Given the description of an element on the screen output the (x, y) to click on. 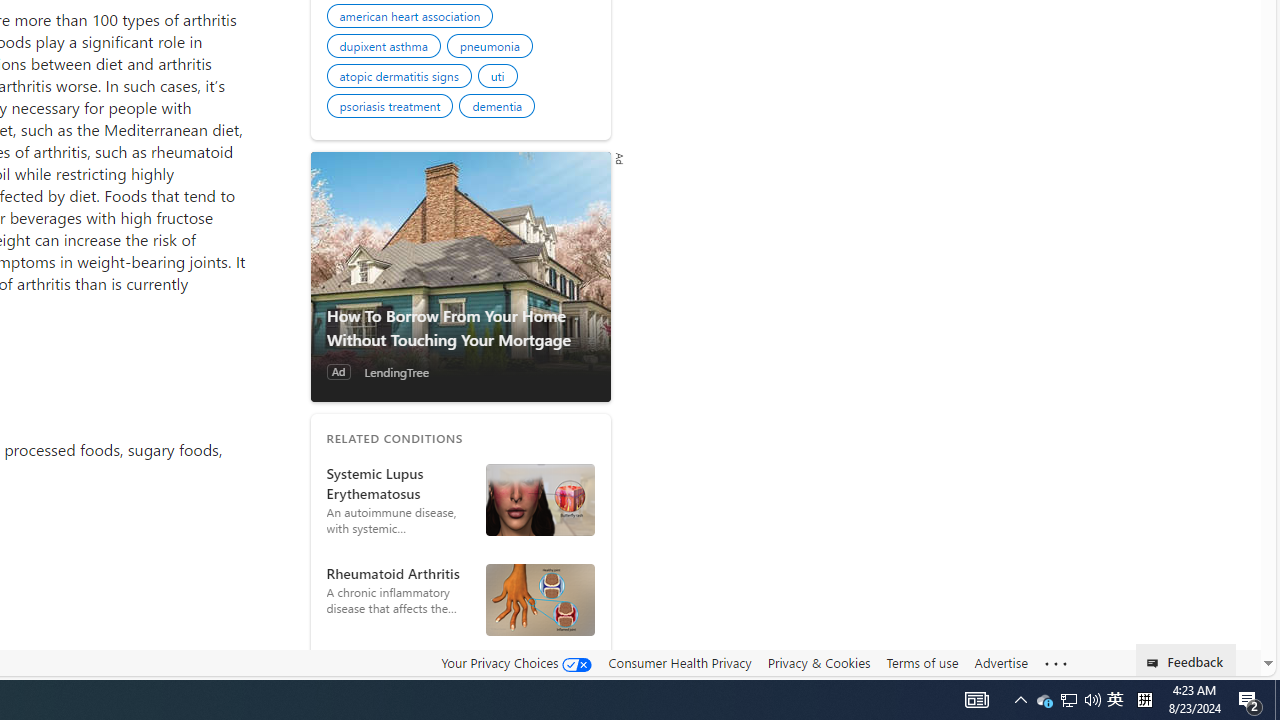
atopic dermatitis signs (401, 79)
Privacy & Cookies (818, 663)
american heart association (413, 18)
Consumer Health Privacy (680, 663)
Class: feedback_link_icon-DS-EntryPoint1-1 (1156, 663)
Privacy & Cookies (818, 662)
Terms of use (921, 663)
psoriasis treatment (392, 108)
Diagrammatic Representation of - Rheumatoid Arthritis (540, 599)
